Given the description of an element on the screen output the (x, y) to click on. 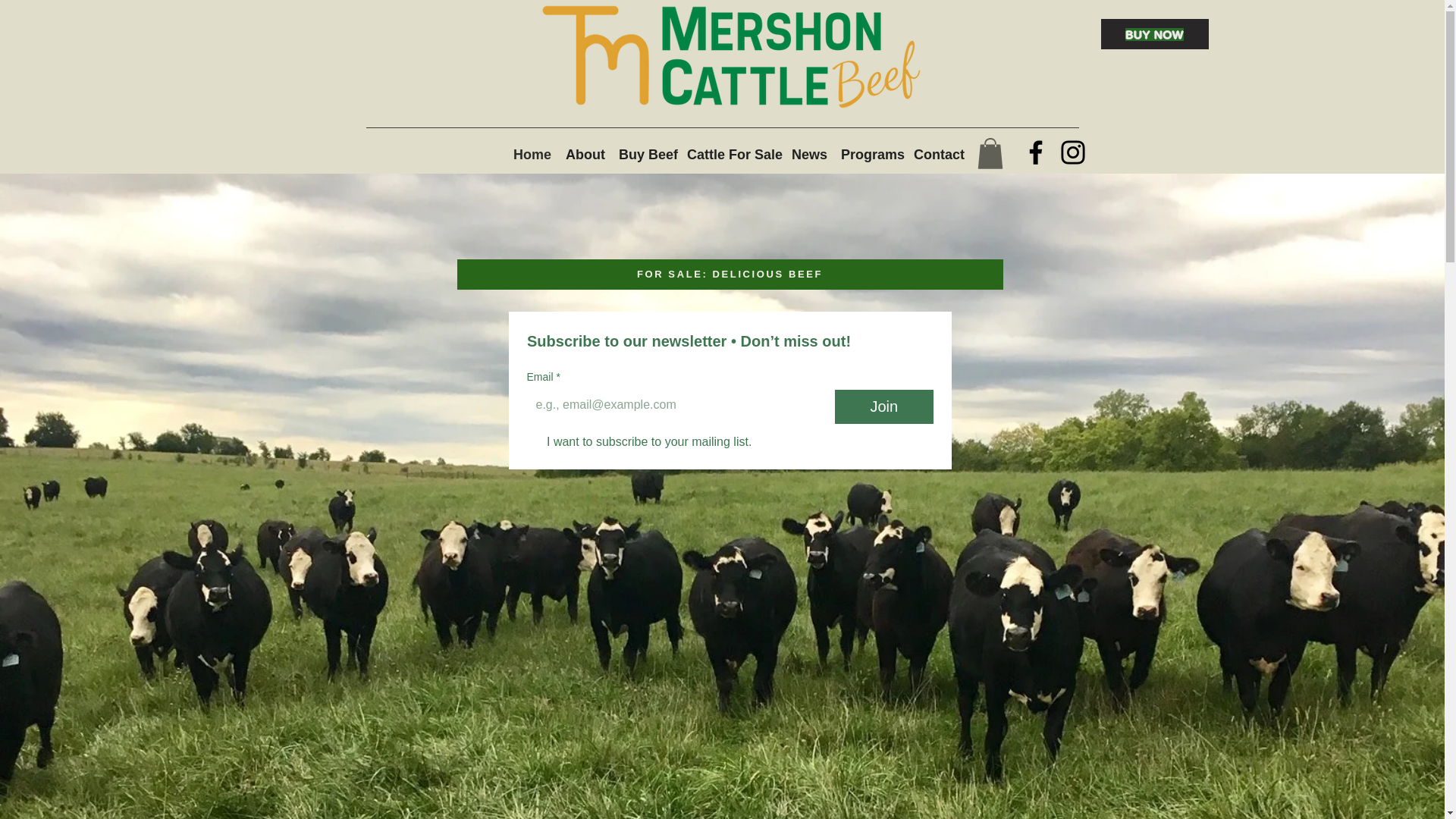
News (808, 154)
Cattle For Sale (731, 154)
Contact (937, 154)
Home (531, 154)
Programs (868, 154)
FOR SALE: DELICIOUS BEEF (730, 274)
BUY NOW (1154, 33)
Join (883, 406)
About (584, 154)
